Given the description of an element on the screen output the (x, y) to click on. 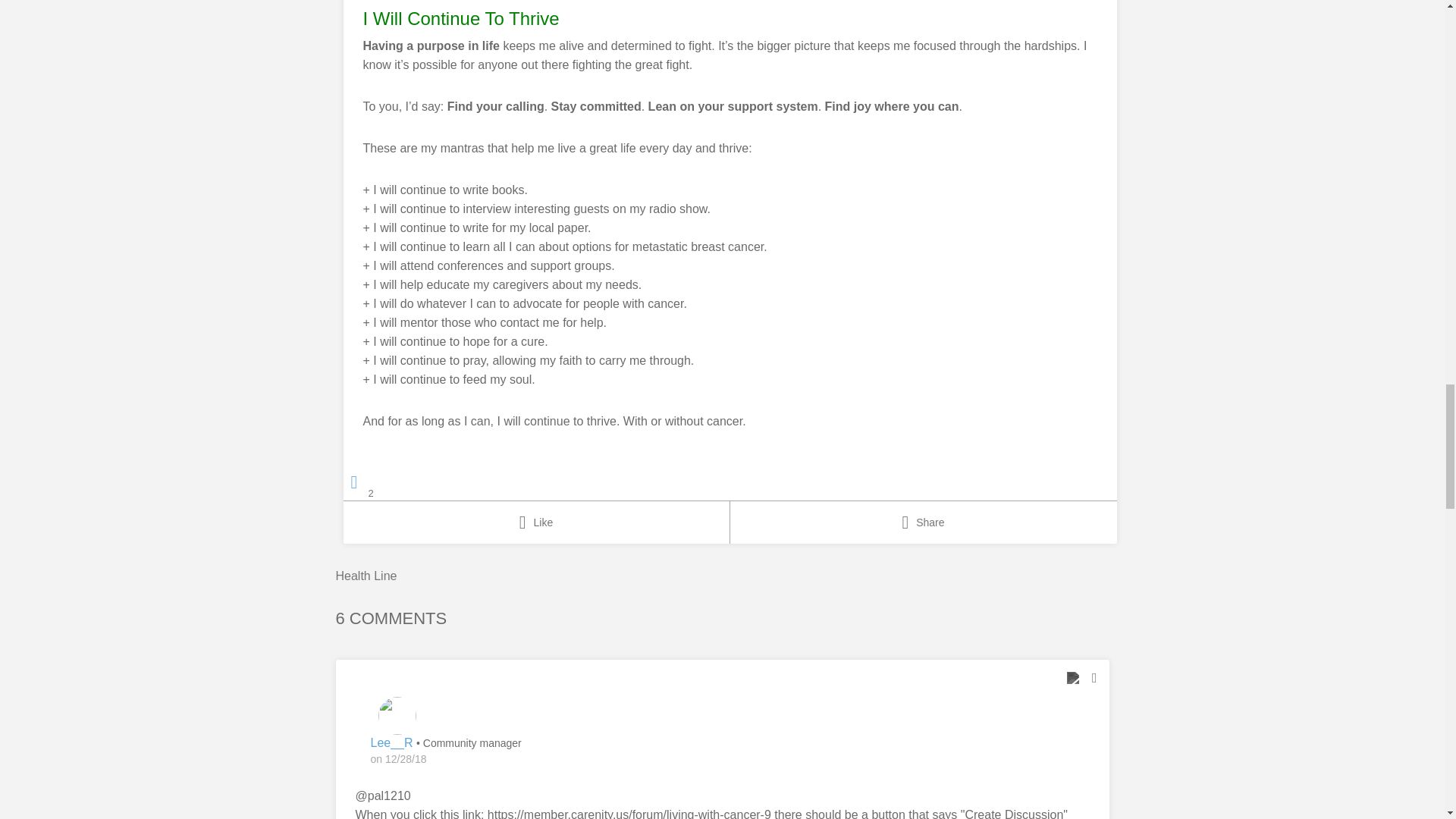
I support this comment (1072, 677)
Like (535, 522)
Share (922, 522)
